Given the description of an element on the screen output the (x, y) to click on. 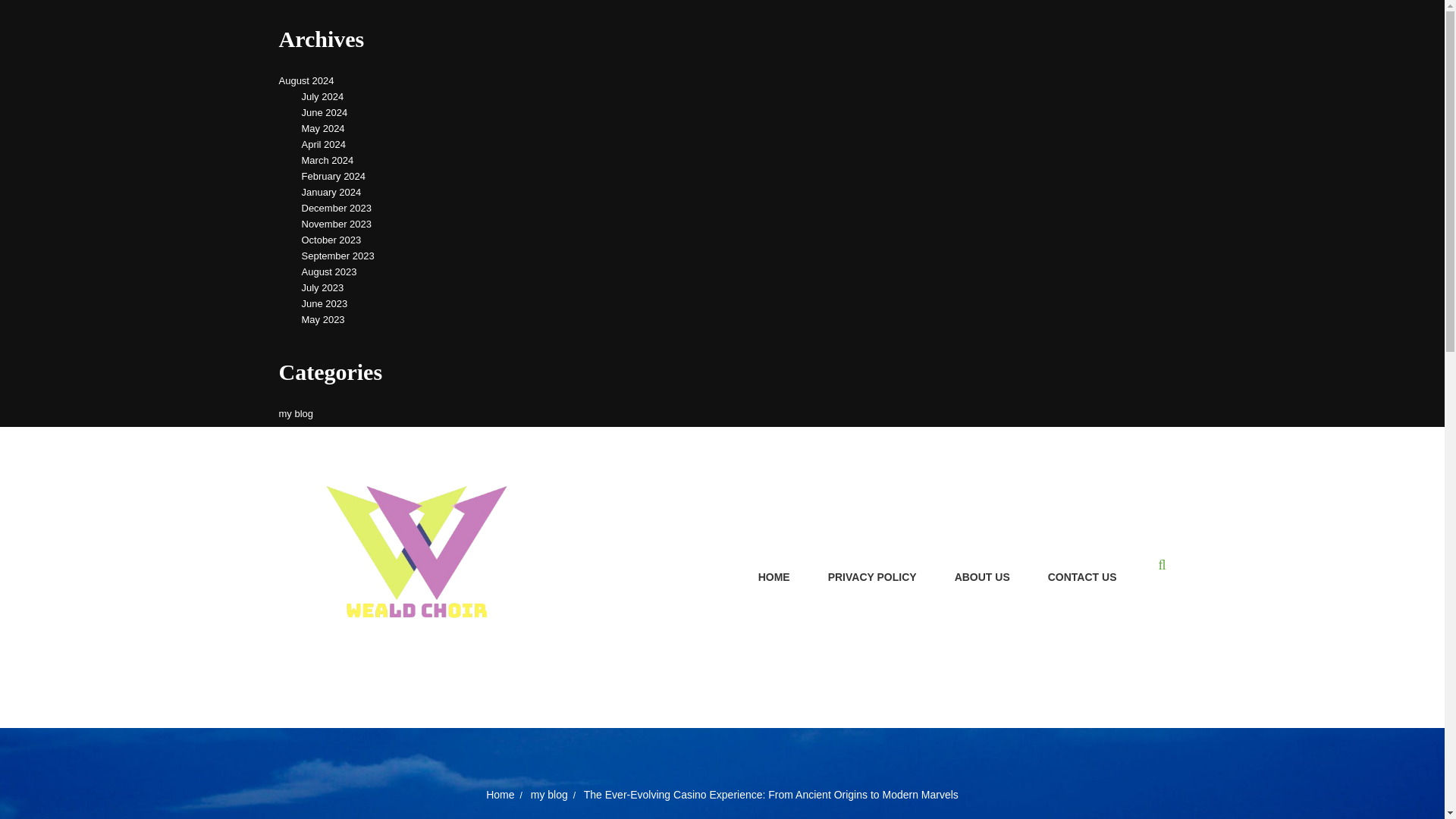
Home (499, 794)
CONTACT US (1082, 577)
December 2023 (336, 208)
May 2024 (323, 128)
July 2023 (322, 287)
PRIVACY POLICY (872, 577)
February 2024 (333, 176)
March 2024 (327, 159)
April 2024 (323, 144)
ABOUT US (982, 577)
July 2024 (322, 96)
September 2023 (337, 255)
August 2023 (328, 271)
October 2023 (331, 239)
January 2024 (331, 191)
